Given the description of an element on the screen output the (x, y) to click on. 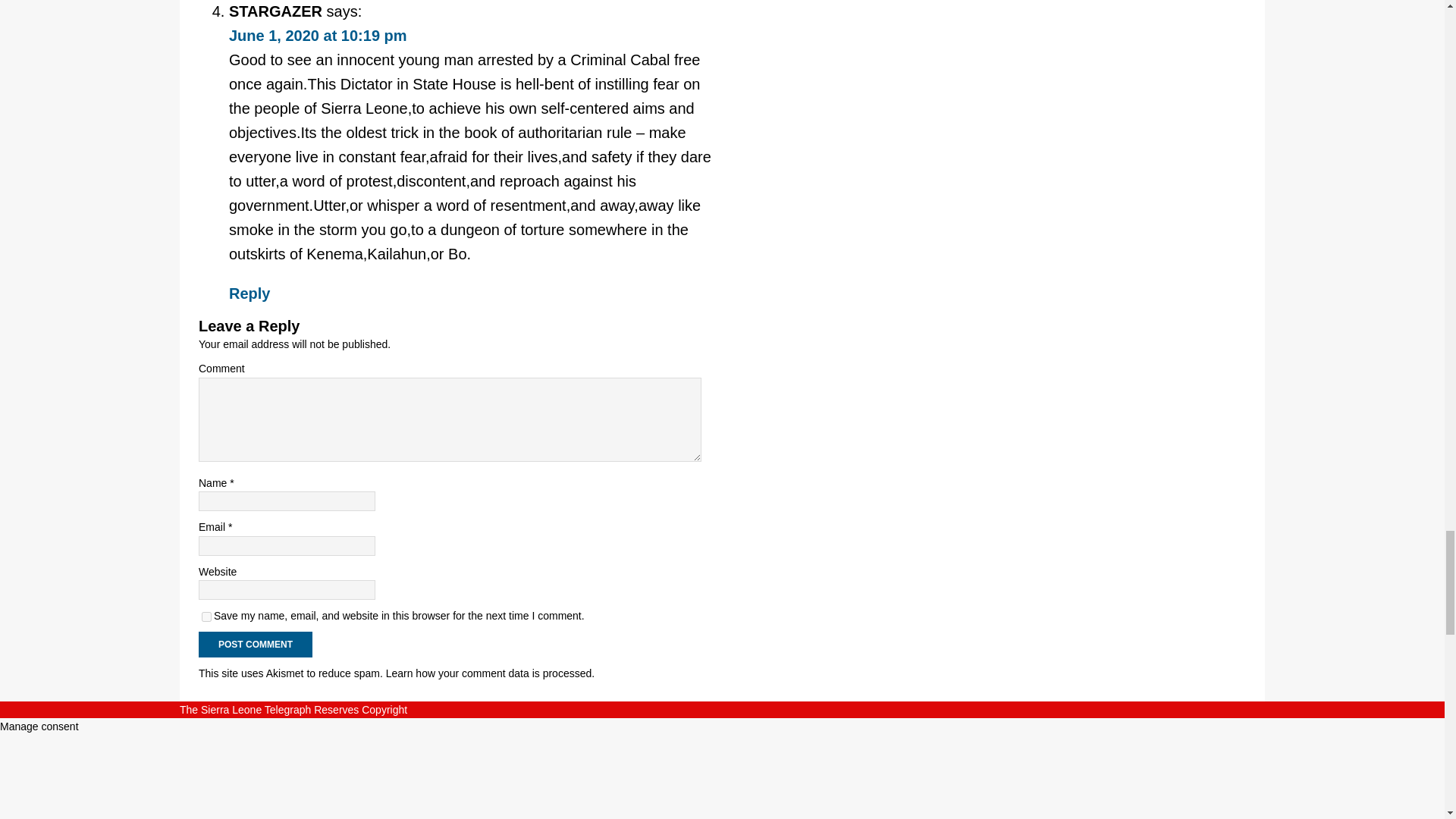
Post Comment (255, 644)
yes (206, 616)
